Given the description of an element on the screen output the (x, y) to click on. 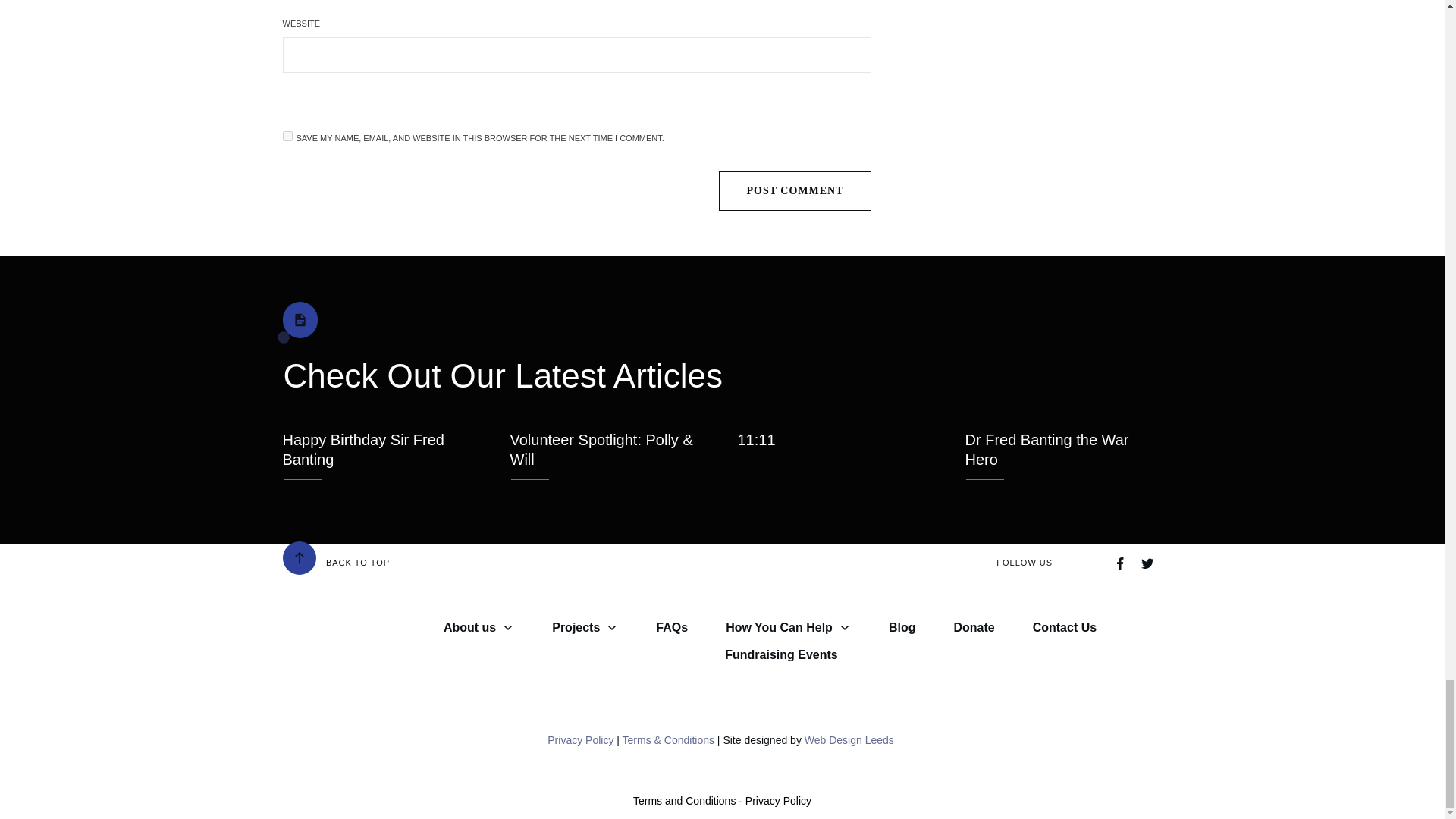
11:11 (755, 439)
Happy Birthday Sir Fred Banting (363, 449)
yes (287, 135)
